Given the description of an element on the screen output the (x, y) to click on. 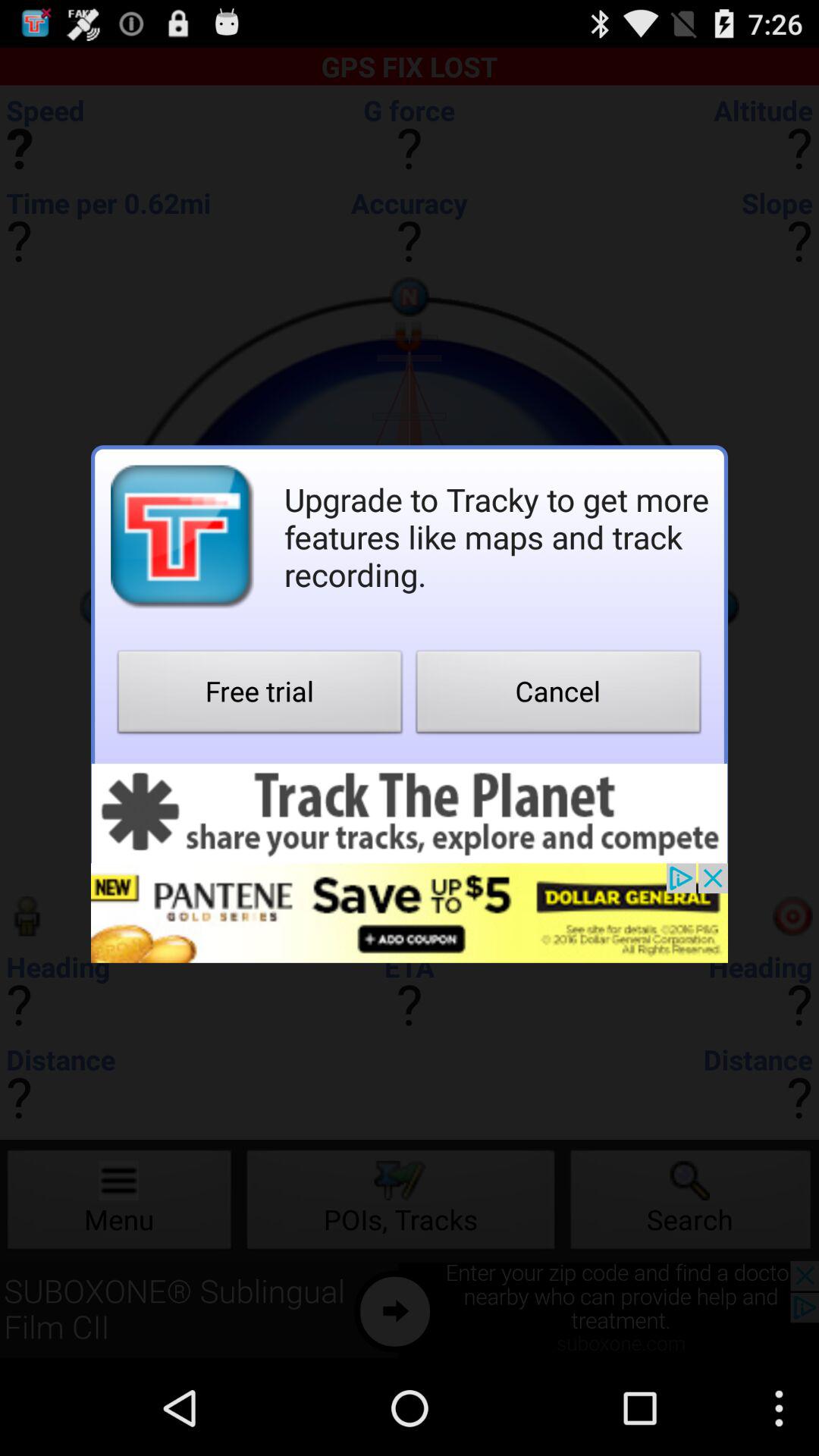
advertisement (409, 813)
